Given the description of an element on the screen output the (x, y) to click on. 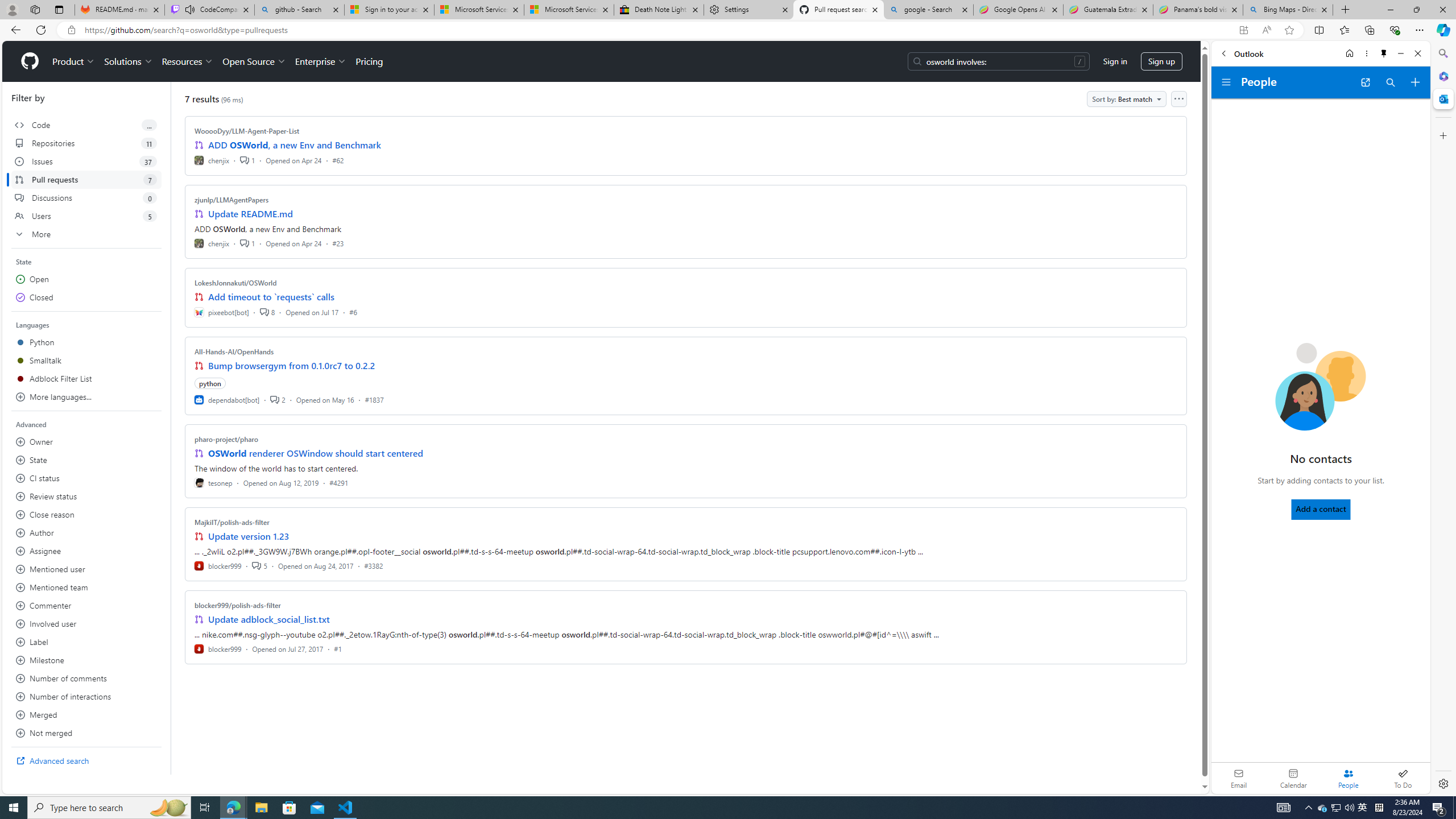
#3382 (373, 565)
Selected people module (1347, 777)
Pricing (368, 60)
Product (74, 60)
